Given the description of an element on the screen output the (x, y) to click on. 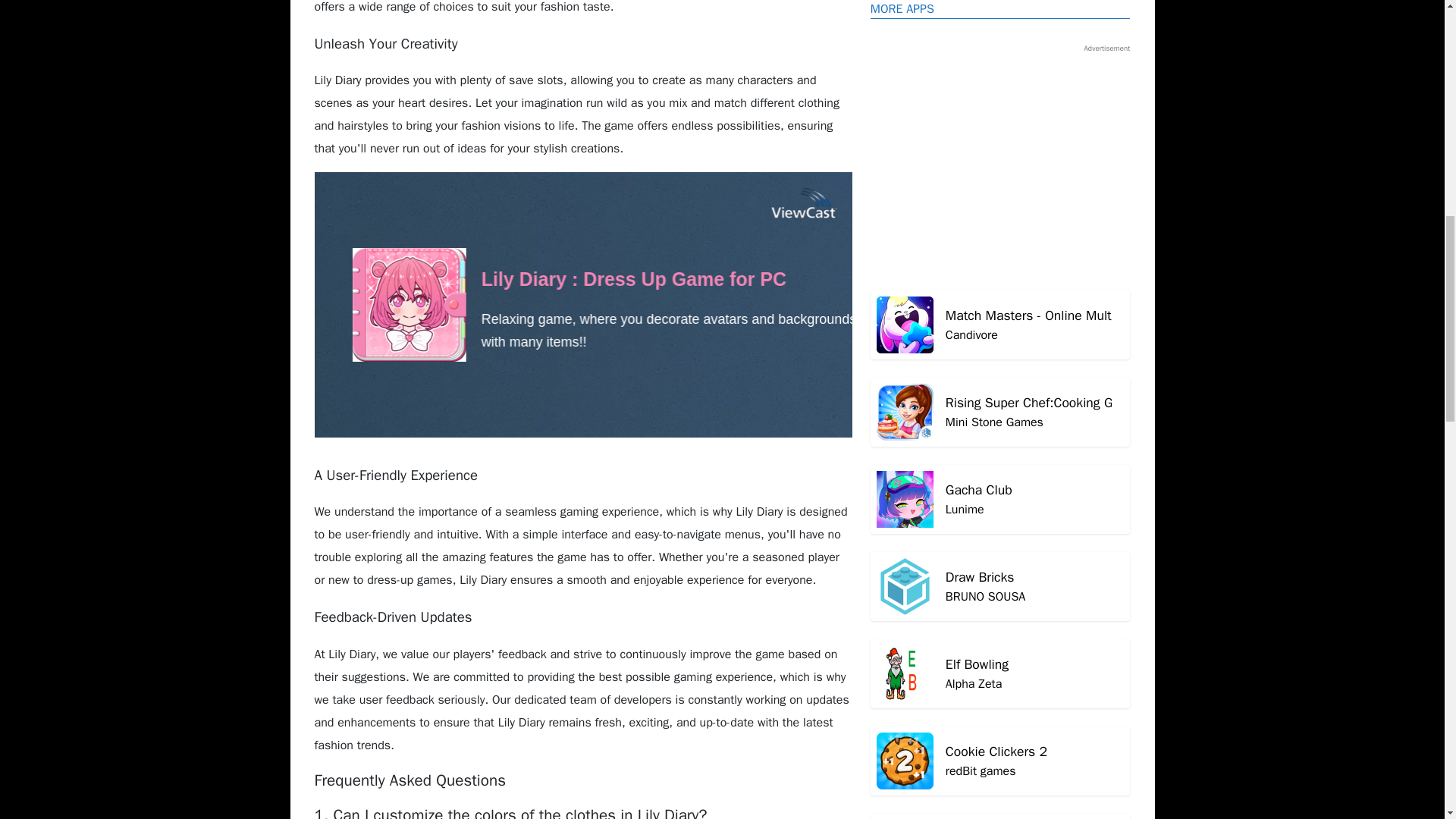
Lily Diary : Dress Up Game for PC screenshot (1000, 337)
My Talking Tom Friends for PC (1000, 676)
Bingo at Home for PC (1000, 163)
Coastal Hill Mystery - Hidden Object for PC (1000, 424)
INFINITY TREE for PC (1000, 512)
Cookie Clickers 2 for PC (1000, 250)
